Given the description of an element on the screen output the (x, y) to click on. 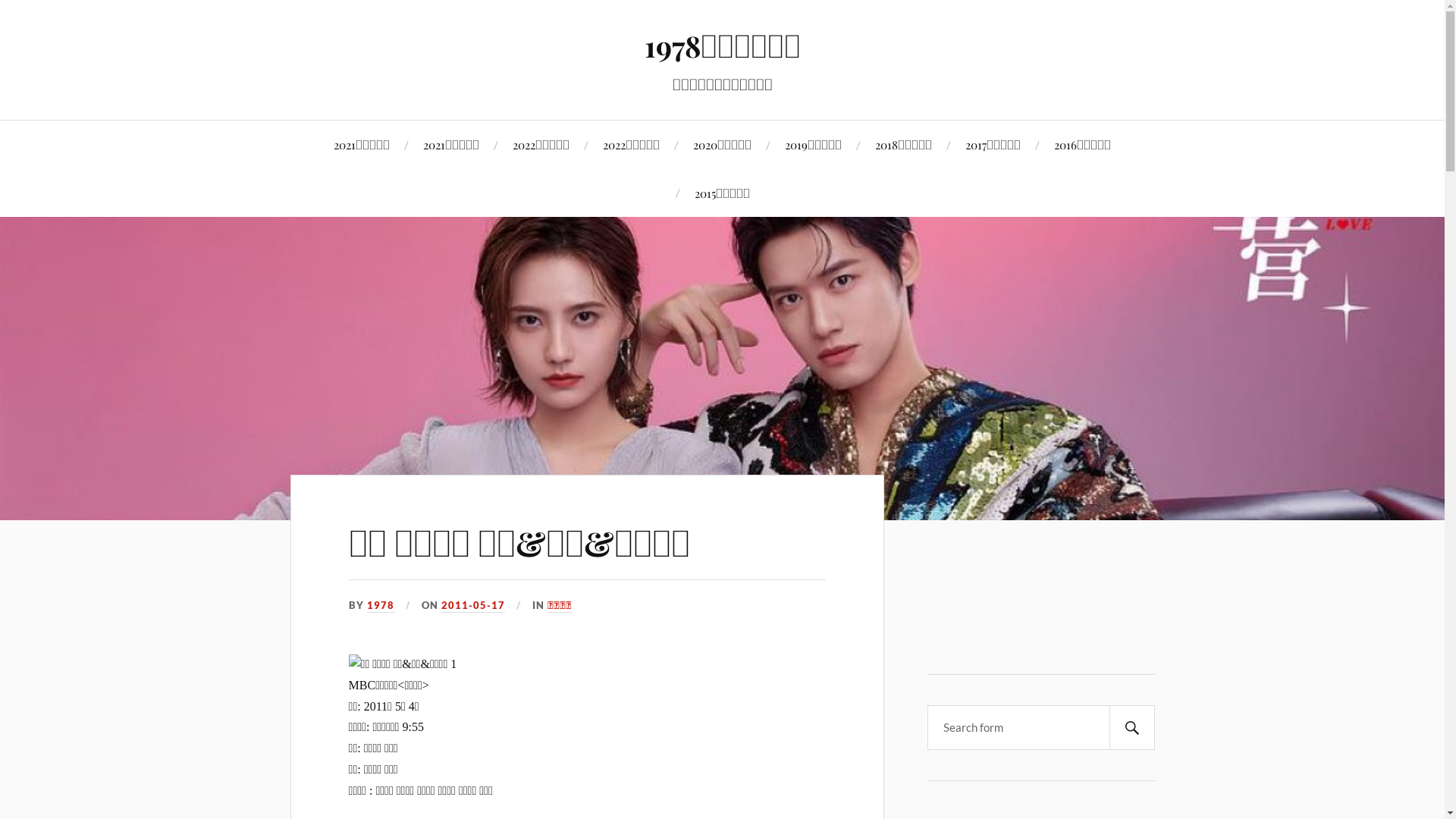
1978 Element type: text (380, 605)
2011-05-17 Element type: text (473, 605)
Advertisement Element type: hover (1048, 603)
